Given the description of an element on the screen output the (x, y) to click on. 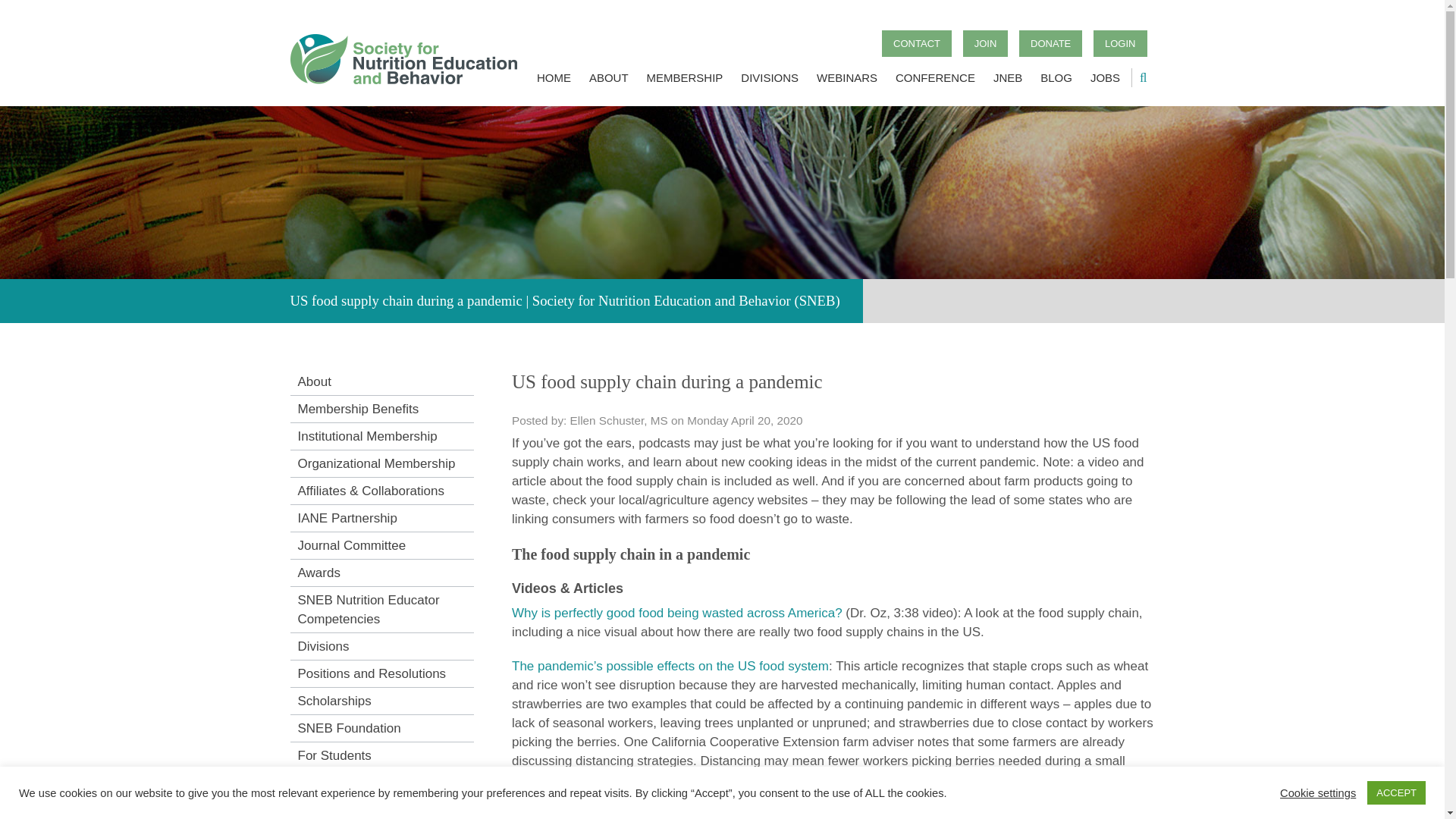
Posts by Ellen Schuster, MS (619, 420)
